Given the description of an element on the screen output the (x, y) to click on. 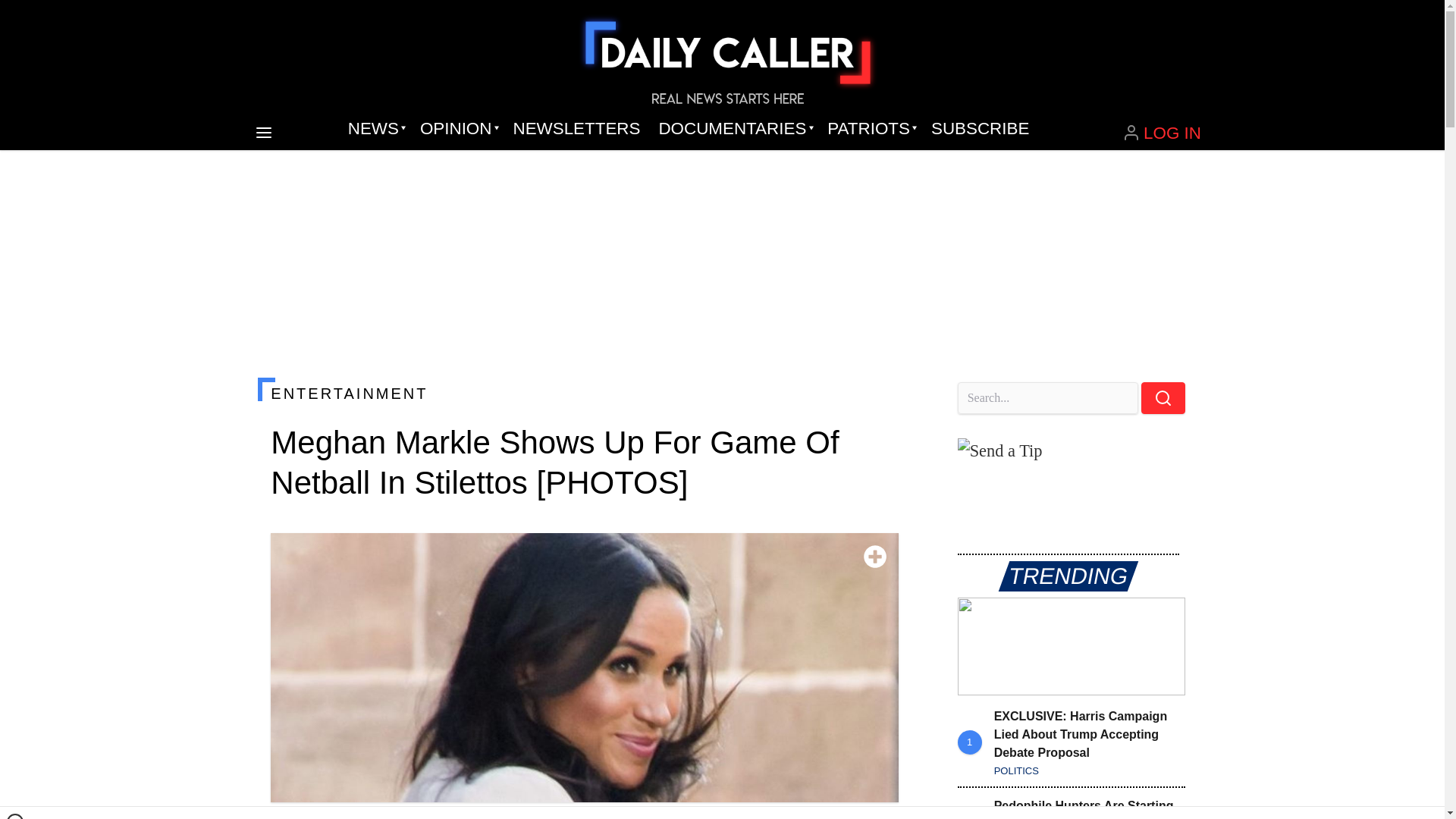
SUBSCRIBE (979, 128)
Close window (14, 816)
ENTERTAINMENT (584, 393)
OPINION (456, 128)
DOCUMENTARIES (733, 128)
PATRIOTS (869, 128)
NEWSLETTERS (576, 128)
Toggle fullscreen (874, 556)
NEWS (374, 128)
